Given the description of an element on the screen output the (x, y) to click on. 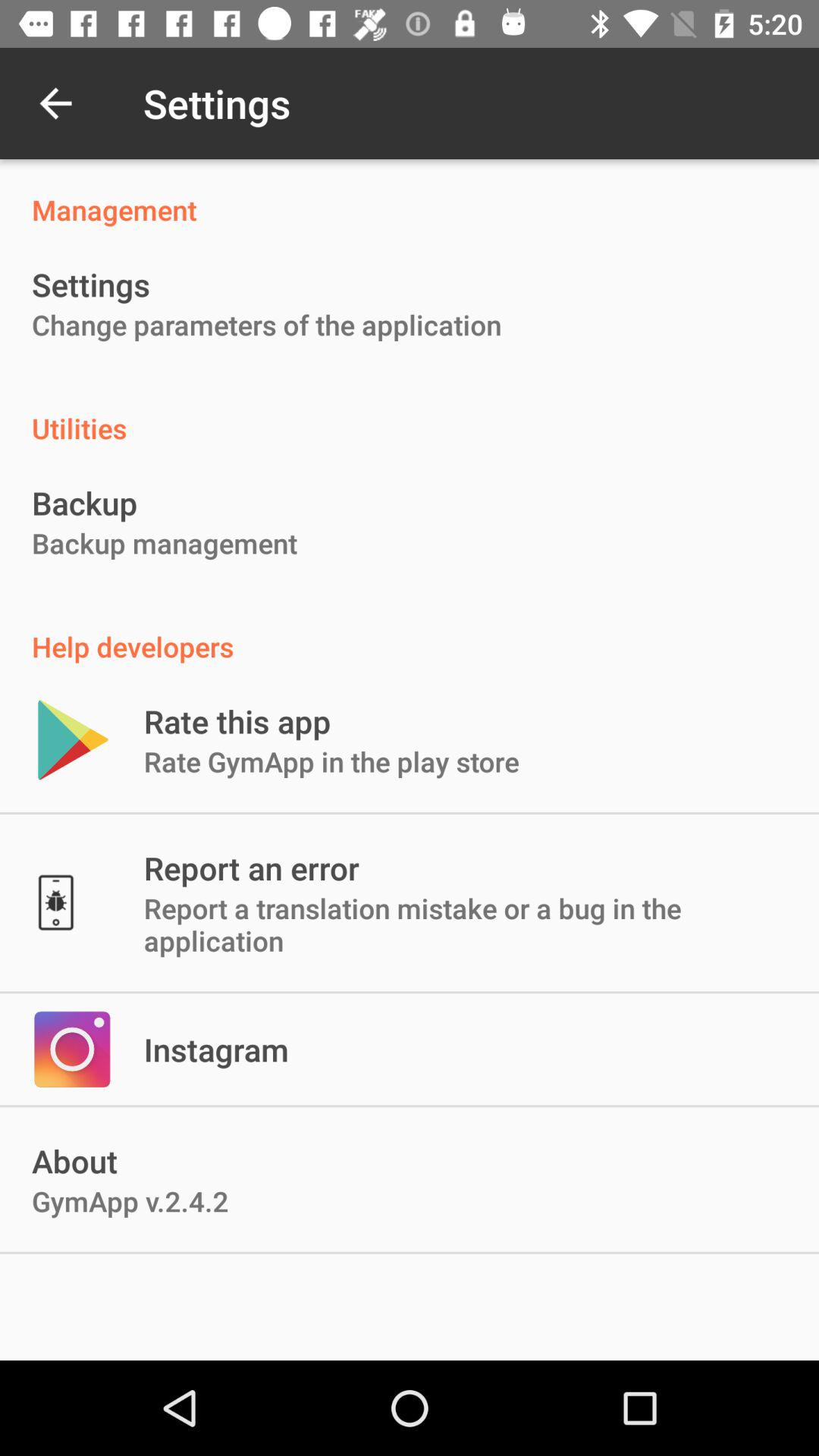
open the item to the left of the settings app (55, 103)
